Given the description of an element on the screen output the (x, y) to click on. 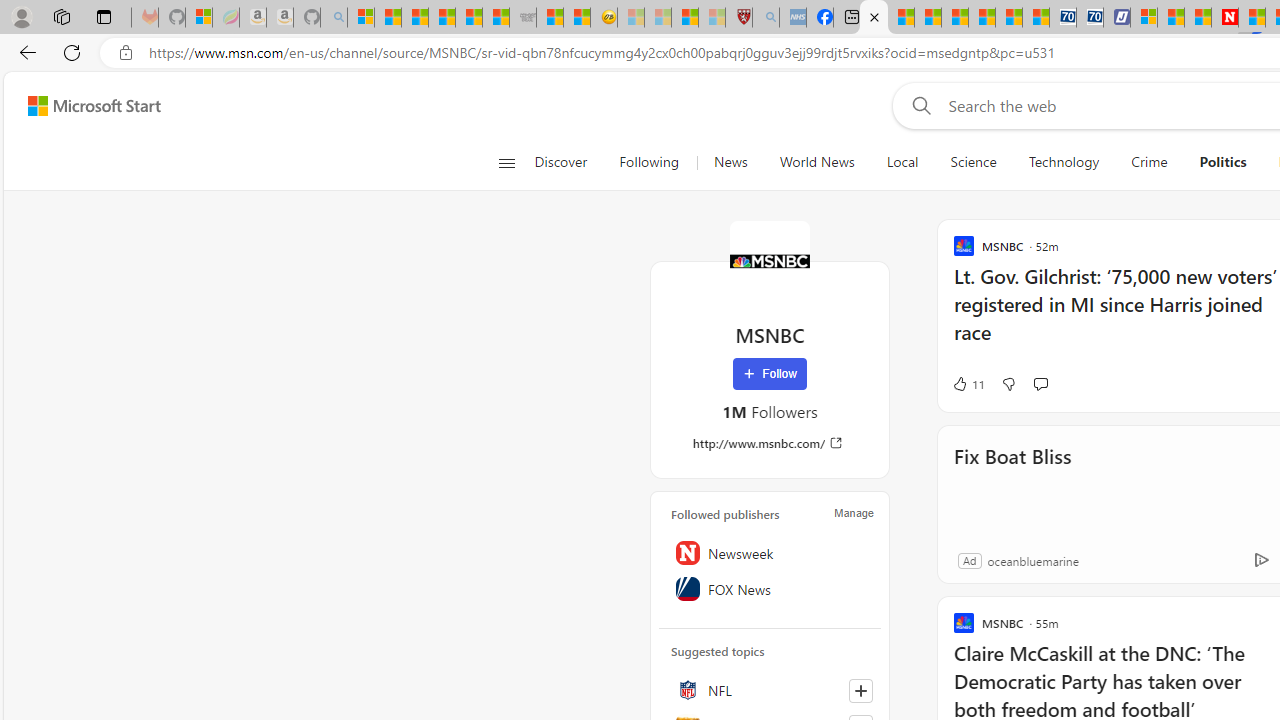
News (730, 162)
Ad (969, 560)
Recipes - MSN - Sleeping (630, 17)
MSNBC - MSN (874, 17)
Fix Boat Bliss (1012, 484)
Science (973, 162)
New Report Confirms 2023 Was Record Hot | Watch (468, 17)
Science (973, 162)
Trusted Community Engagement and Contributions | Guidelines (1251, 17)
http://www.msnbc.com/ (769, 443)
